Given the description of an element on the screen output the (x, y) to click on. 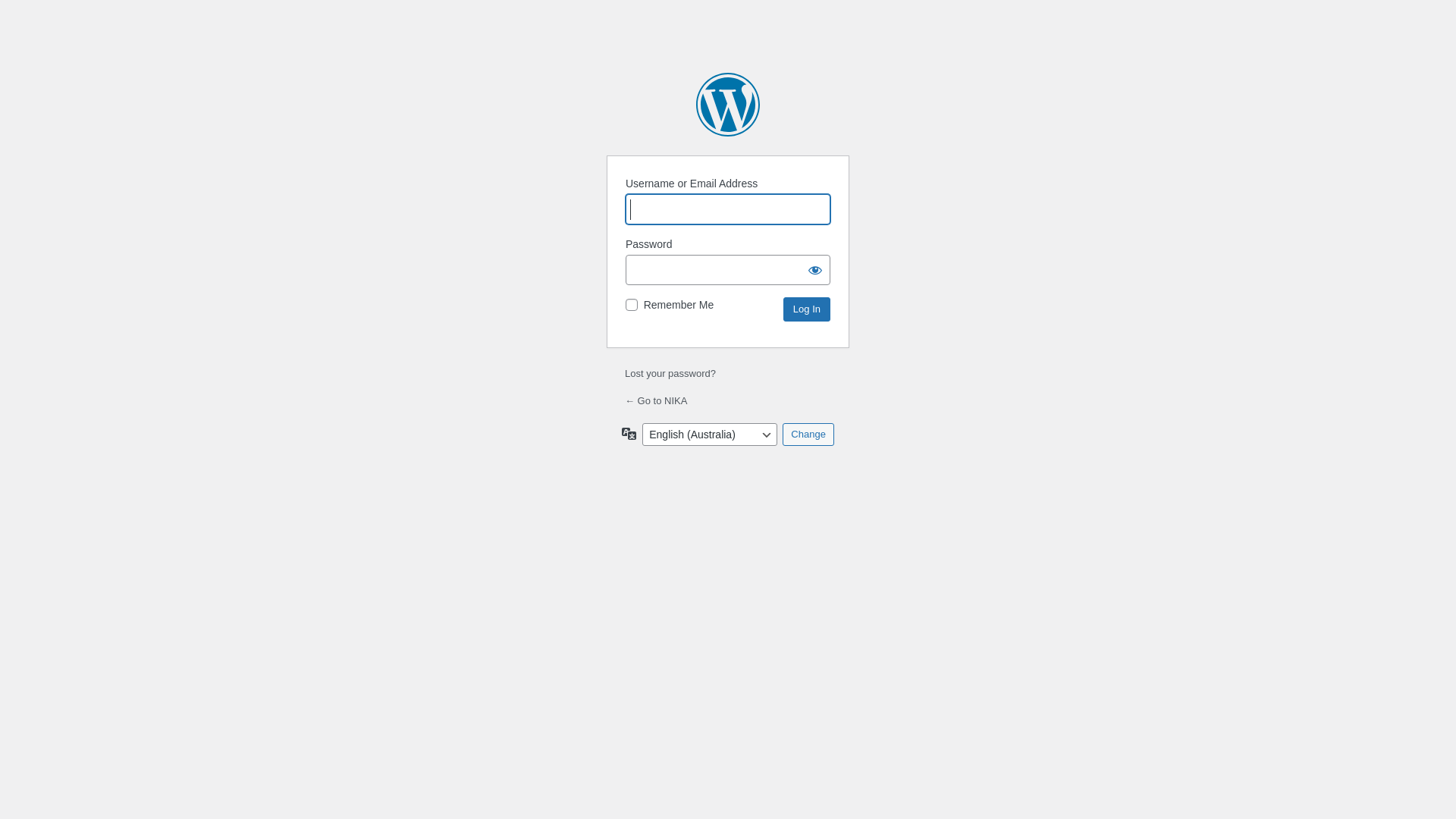
Lost your password? Element type: text (669, 373)
Powered by WordPress Element type: text (727, 104)
Change Element type: text (808, 434)
Log In Element type: text (806, 309)
